Given the description of an element on the screen output the (x, y) to click on. 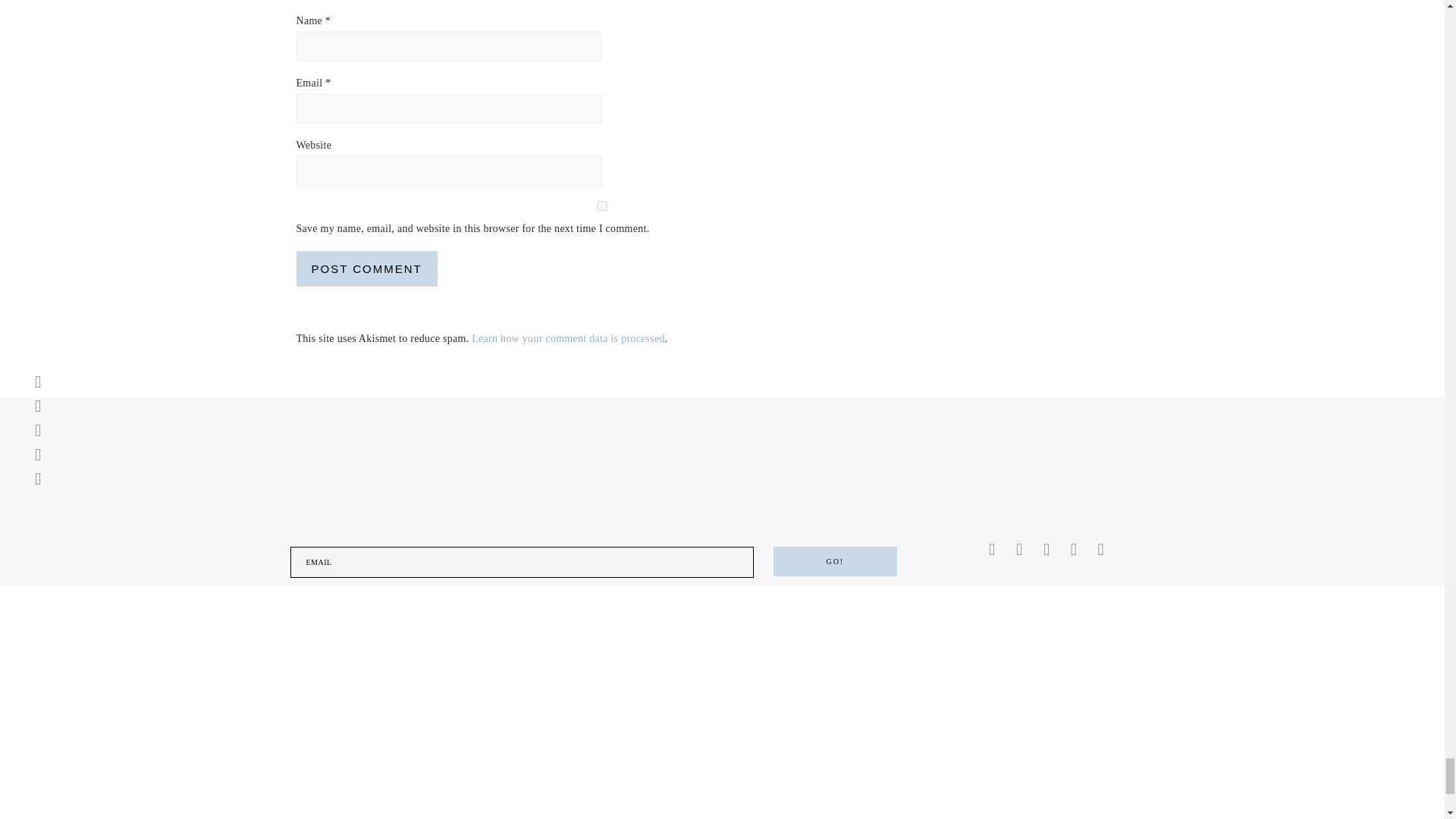
Go! (834, 561)
yes (601, 204)
Post Comment (365, 267)
